Given the description of an element on the screen output the (x, y) to click on. 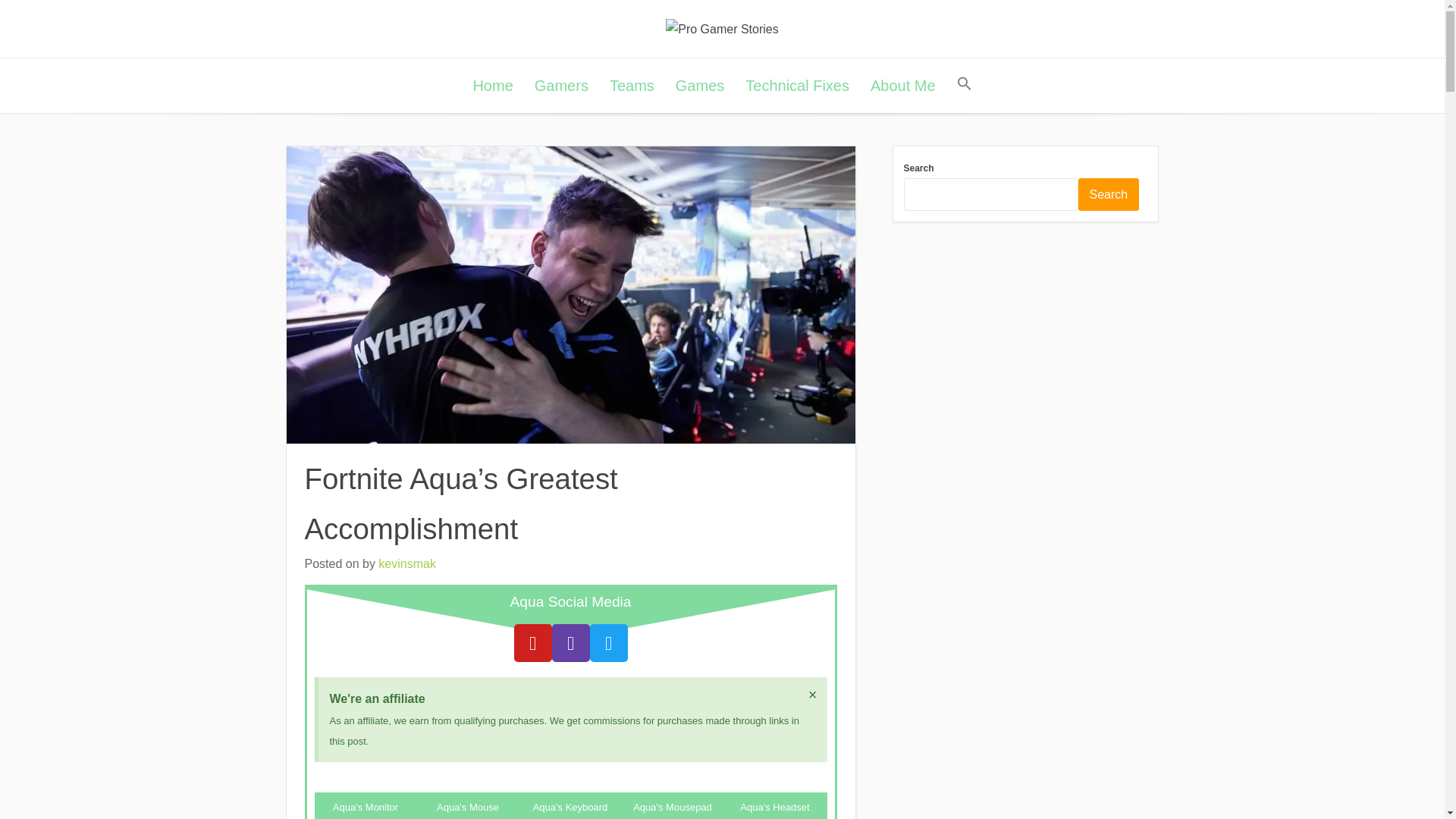
About Me (903, 85)
Technical Fixes (797, 85)
Home (491, 85)
Gamers (561, 85)
Teams (631, 85)
kevinsmak (406, 563)
Games (700, 85)
